Given the description of an element on the screen output the (x, y) to click on. 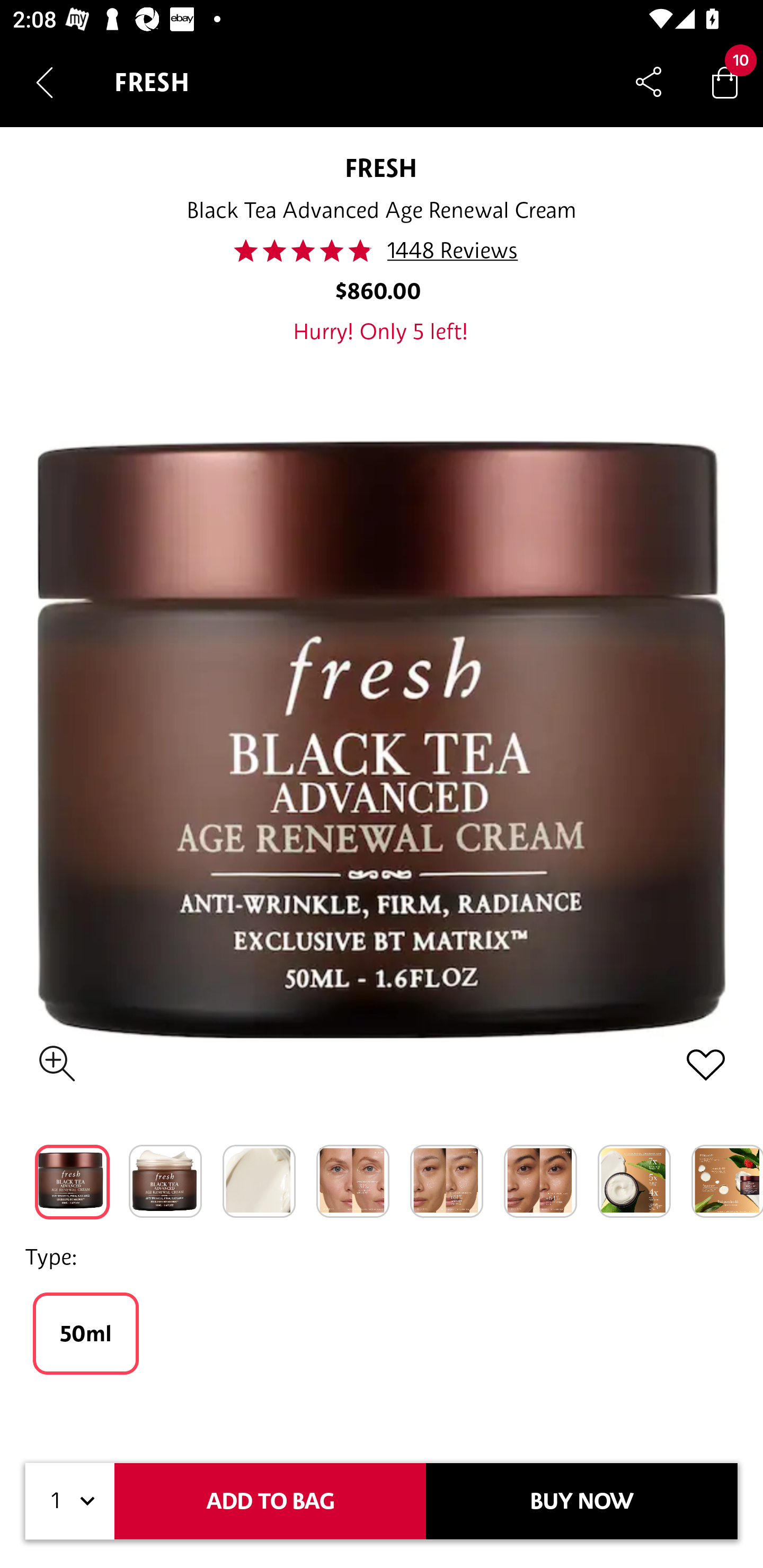
Navigate up (44, 82)
Share (648, 81)
Bag (724, 81)
FRESH (381, 167)
48.0 1448 Reviews (381, 250)
50ml (85, 1333)
1 (69, 1500)
ADD TO BAG (269, 1500)
BUY NOW (581, 1500)
